Given the description of an element on the screen output the (x, y) to click on. 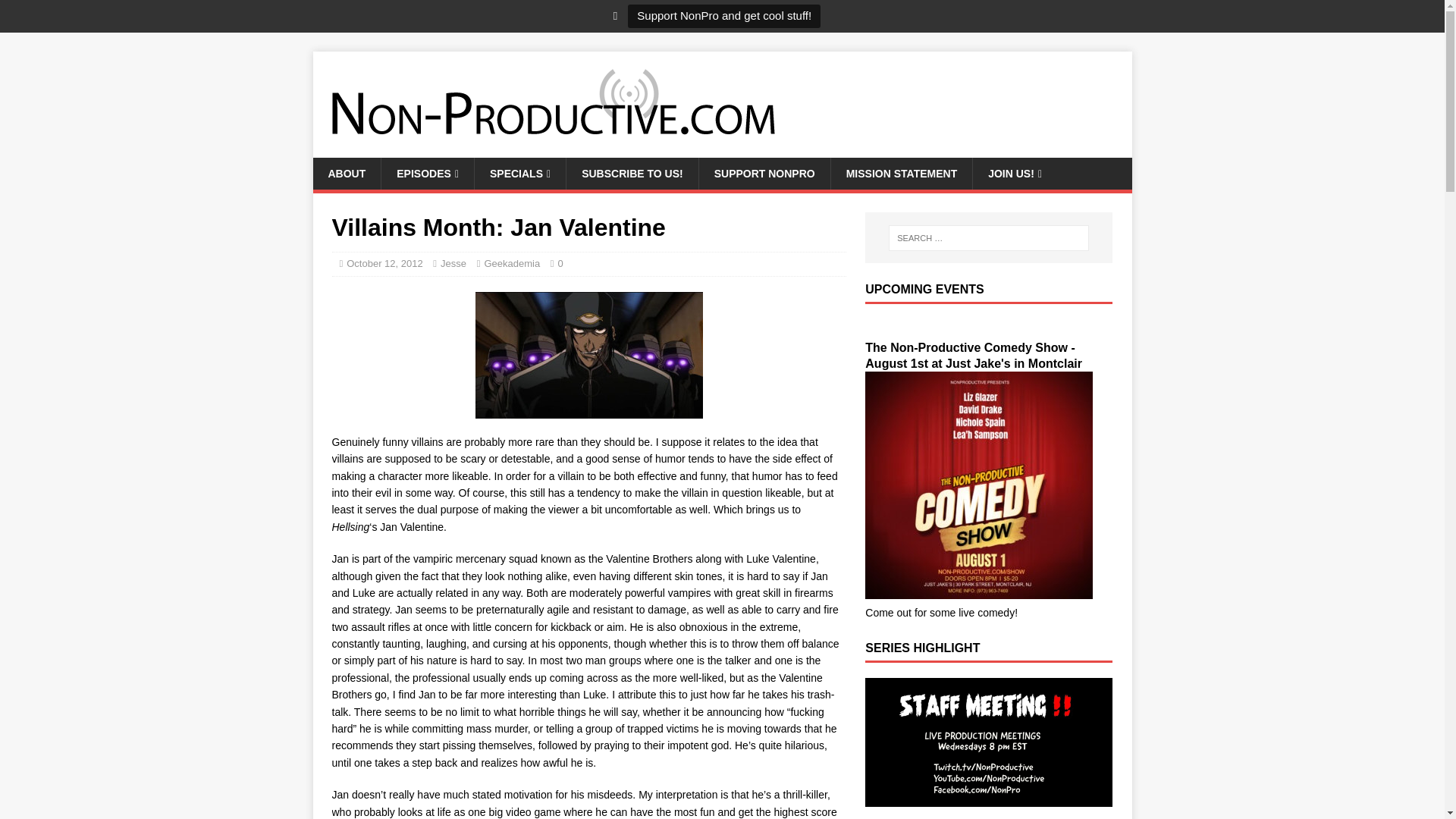
Support NonPro and get cool stuff! (724, 15)
EPISODES (427, 173)
ABOUT (346, 173)
